Given the description of an element on the screen output the (x, y) to click on. 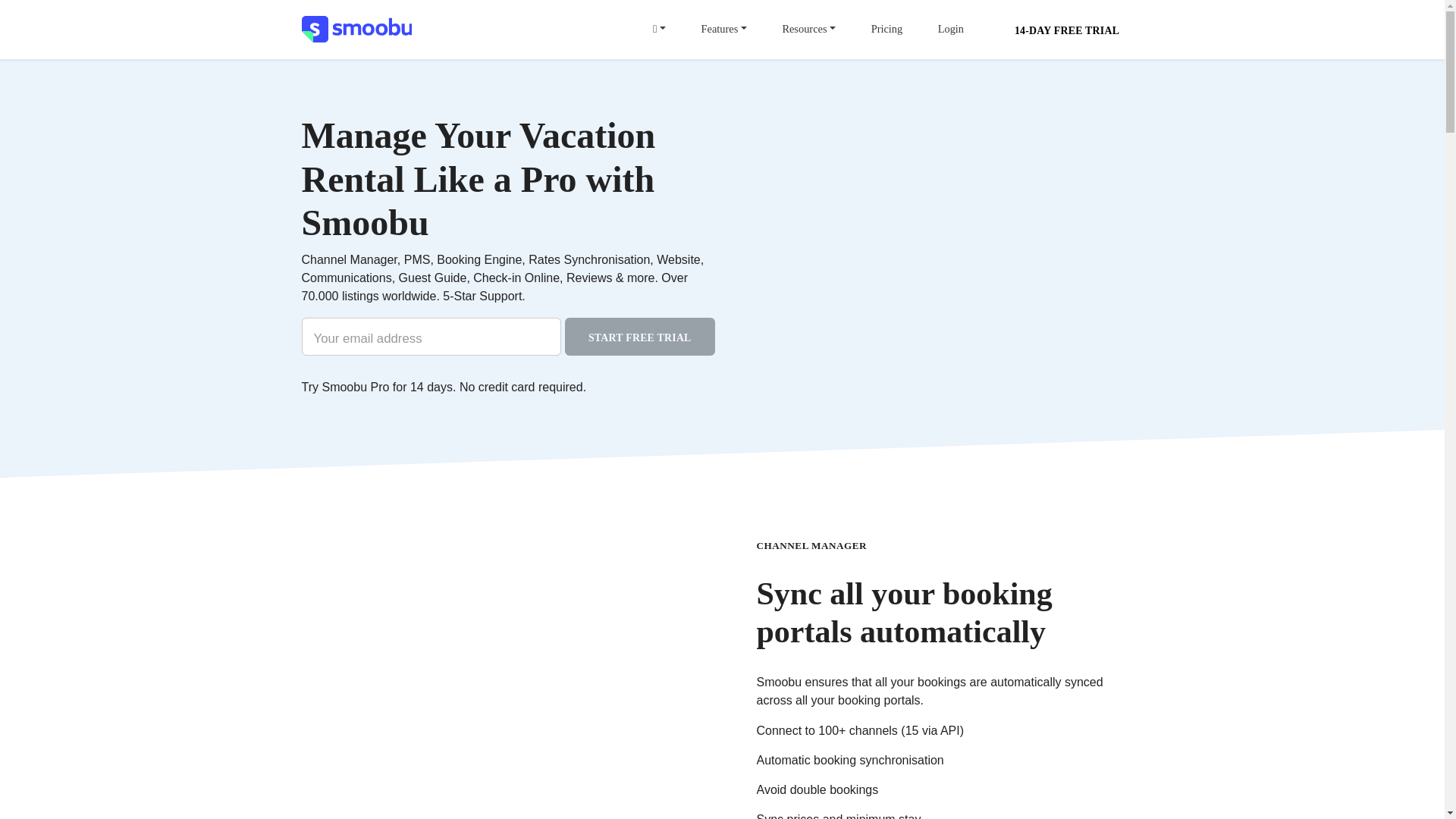
START FREE TRIAL (639, 336)
Resources (808, 29)
14-DAY FREE TRIAL (1066, 29)
Login (950, 29)
Pricing (887, 29)
Features (723, 29)
